Given the description of an element on the screen output the (x, y) to click on. 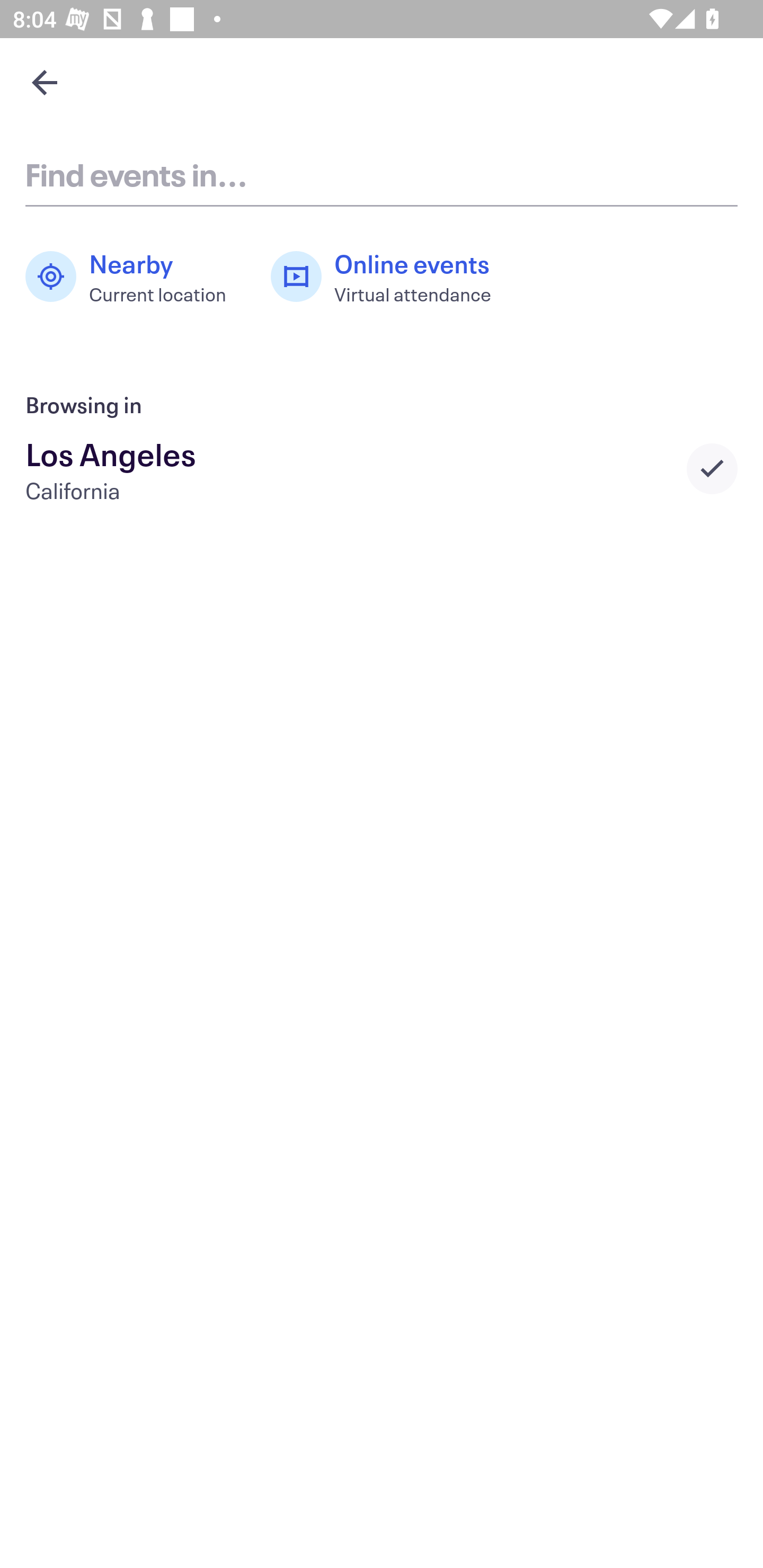
Navigate up (44, 82)
Find events in... (381, 173)
Nearby Current location (135, 276)
Online events Virtual attendance (390, 276)
Los Angeles California Selected city (381, 468)
